Given the description of an element on the screen output the (x, y) to click on. 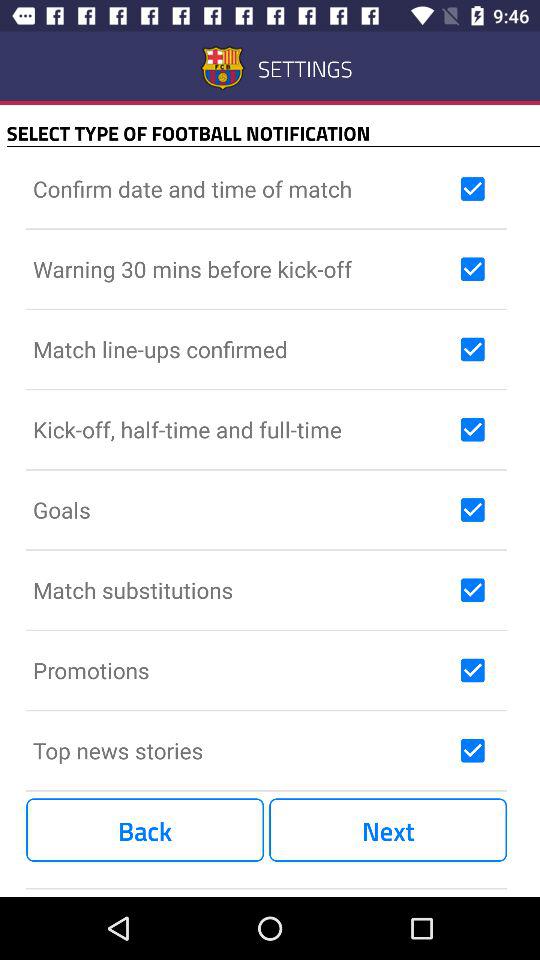
toggle kick-off half-time and full-time (472, 429)
